Given the description of an element on the screen output the (x, y) to click on. 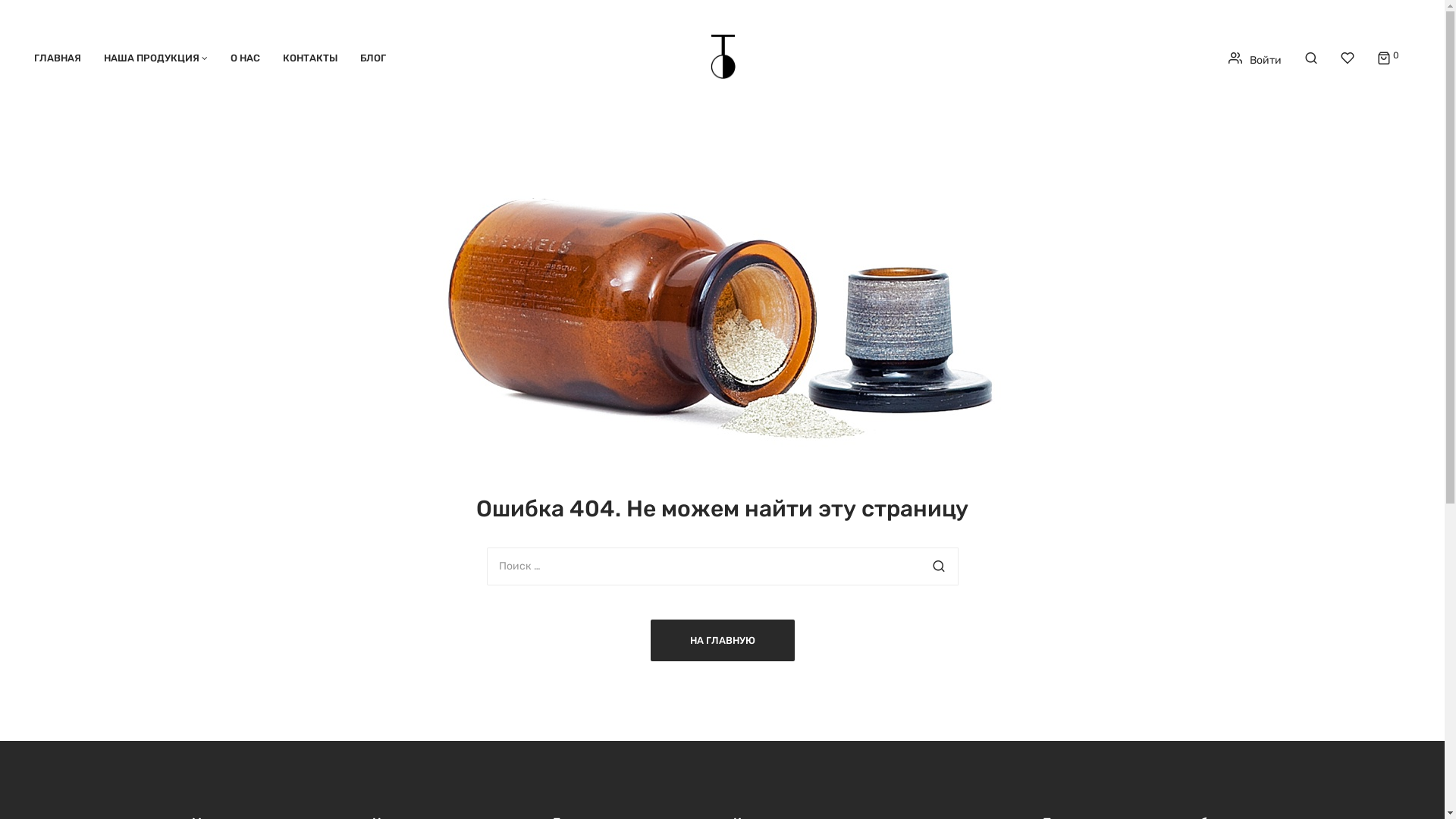
0 Element type: text (1396, 54)
